Given the description of an element on the screen output the (x, y) to click on. 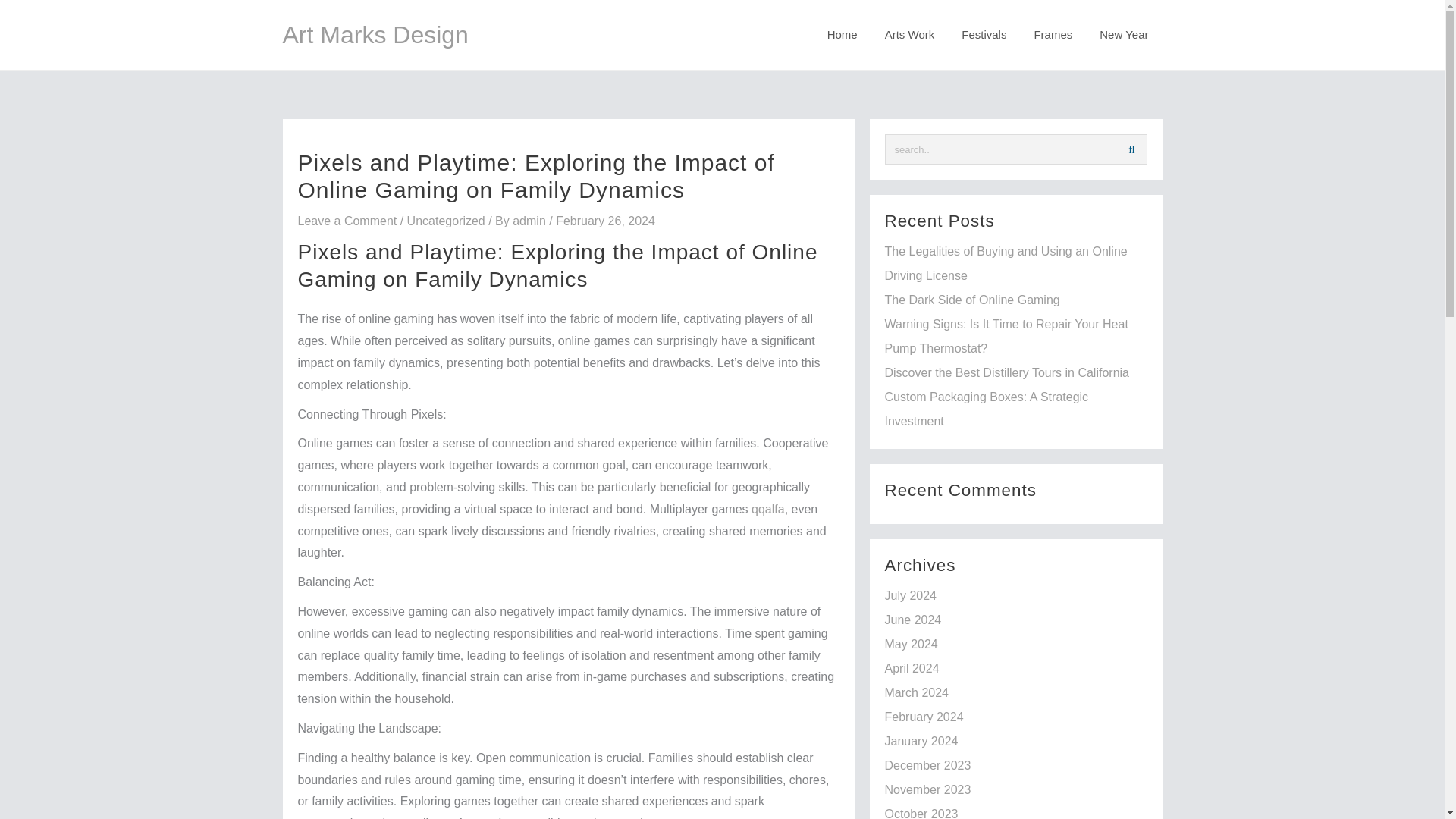
admin (530, 220)
Uncategorized (445, 220)
May 2024 (910, 644)
Search (1131, 149)
December 2023 (927, 765)
Search (1131, 149)
June 2024 (911, 619)
March 2024 (916, 692)
New Year (1123, 34)
